Given the description of an element on the screen output the (x, y) to click on. 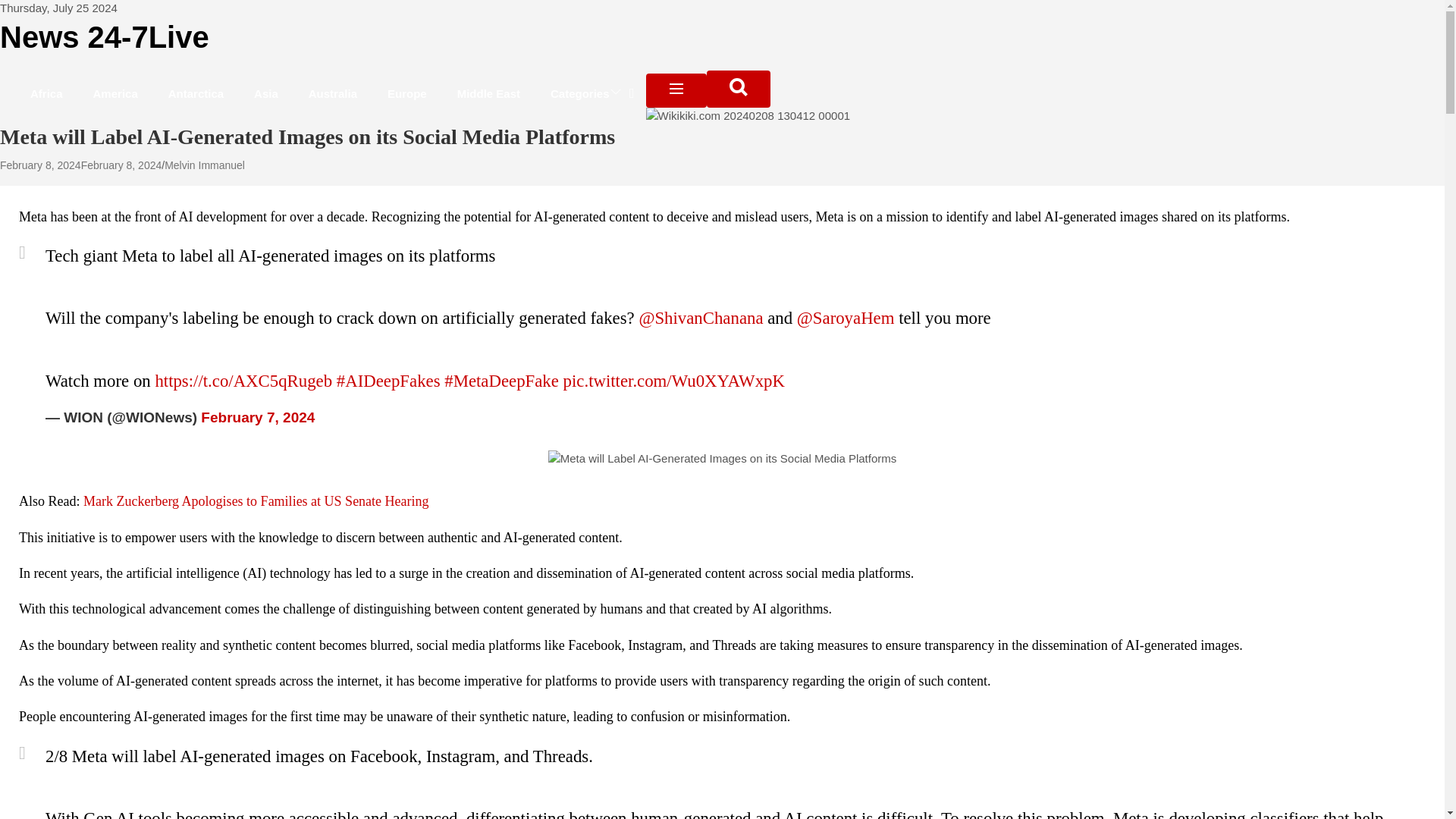
Categories (590, 93)
Europe (407, 93)
Melvin Immanuel (204, 164)
Antarctica (195, 93)
February 8, 2024February 8, 2024 (80, 164)
Mark Zuckerberg Apologises to Families at US Senate Hearing (255, 500)
News 24-7Live (104, 37)
Asia (266, 93)
Middle East (488, 93)
February 7, 2024 (257, 417)
America (115, 93)
Australia (333, 93)
Africa (46, 93)
